Given the description of an element on the screen output the (x, y) to click on. 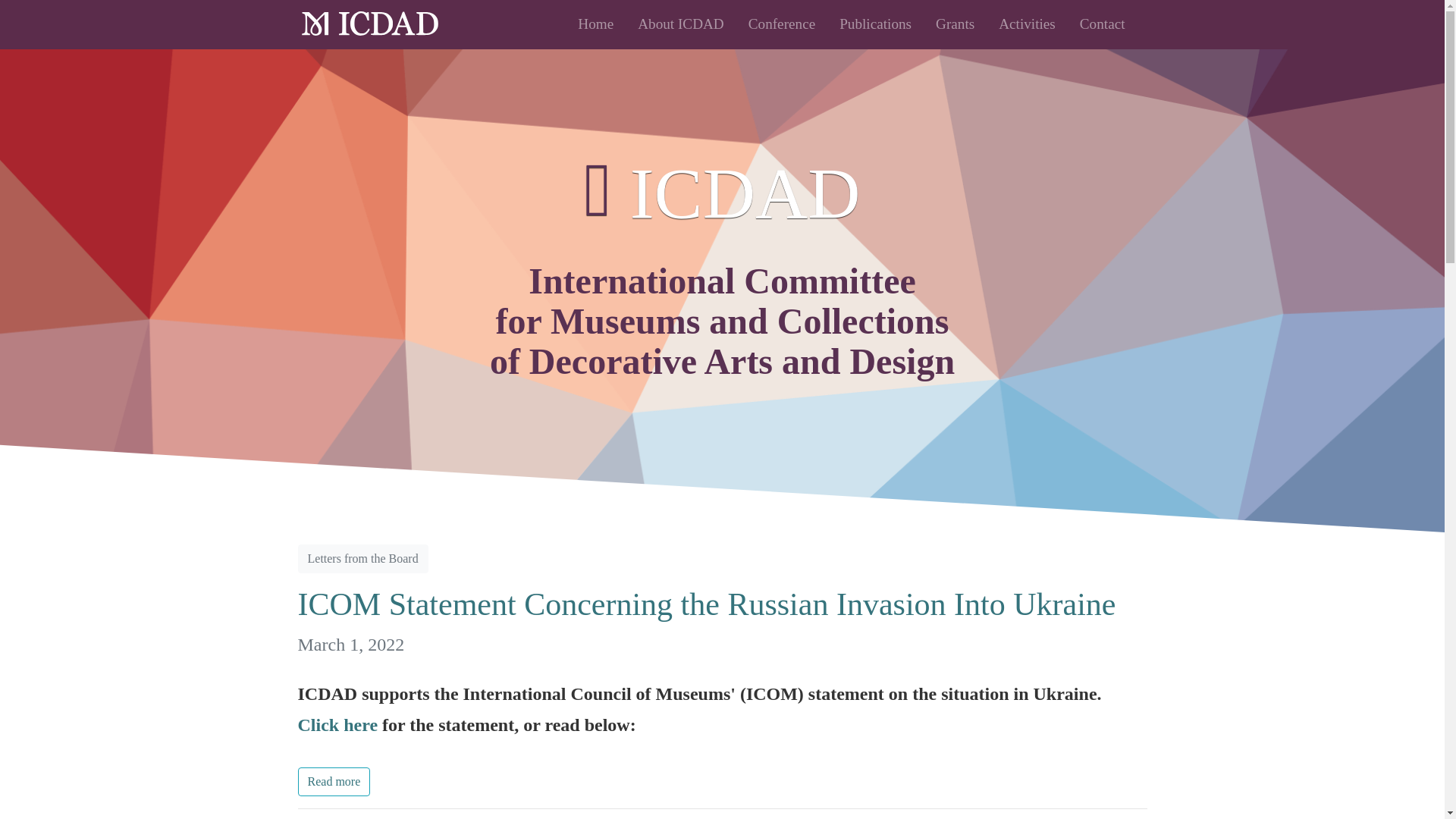
About ICDAD (680, 24)
Publications (874, 24)
Click here (337, 724)
Conference (781, 24)
Contact (1102, 24)
Grants (954, 24)
Activities (1026, 24)
Read more (333, 781)
Home (596, 24)
Letters from the Board (362, 558)
ICOM Statement Concerning the Russian Invasion Into Ukraine (722, 620)
